Given the description of an element on the screen output the (x, y) to click on. 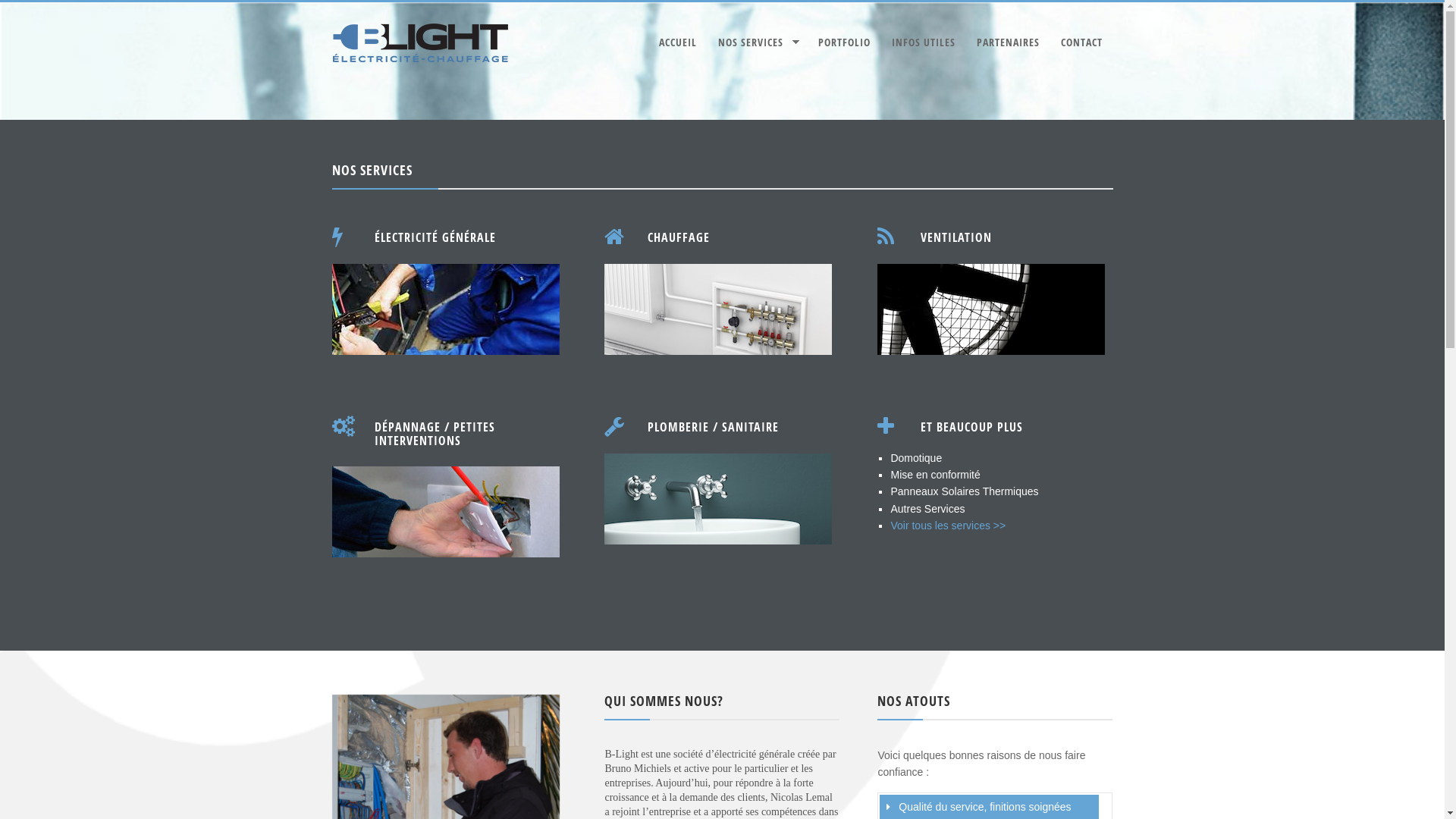
PARTENAIRES Element type: text (1008, 41)
B-Light Element type: hover (421, 43)
CHAUFFAGE Element type: text (678, 237)
INFOS UTILES Element type: text (923, 41)
ET BEAUCOUP PLUS Element type: text (971, 426)
VENTILATION Element type: text (955, 237)
PLOMBERIE / SANITAIRE Element type: text (712, 426)
PORTFOLIO Element type: text (843, 41)
Voir tous les services >> Element type: text (947, 525)
CONTACT Element type: text (1080, 41)
ACCUEIL Element type: text (677, 41)
